Given the description of an element on the screen output the (x, y) to click on. 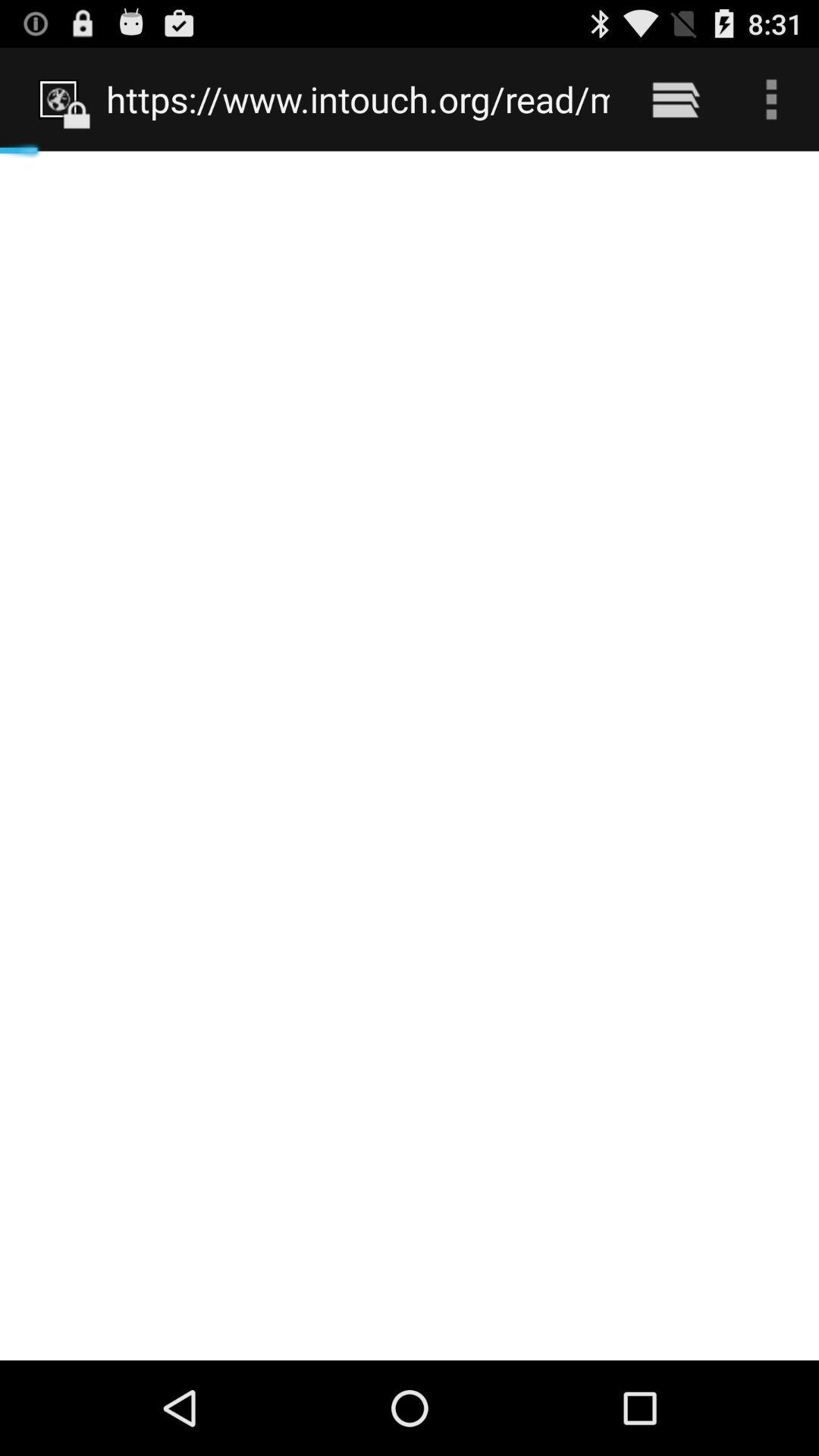
click the icon next to https www intouch item (675, 99)
